Given the description of an element on the screen output the (x, y) to click on. 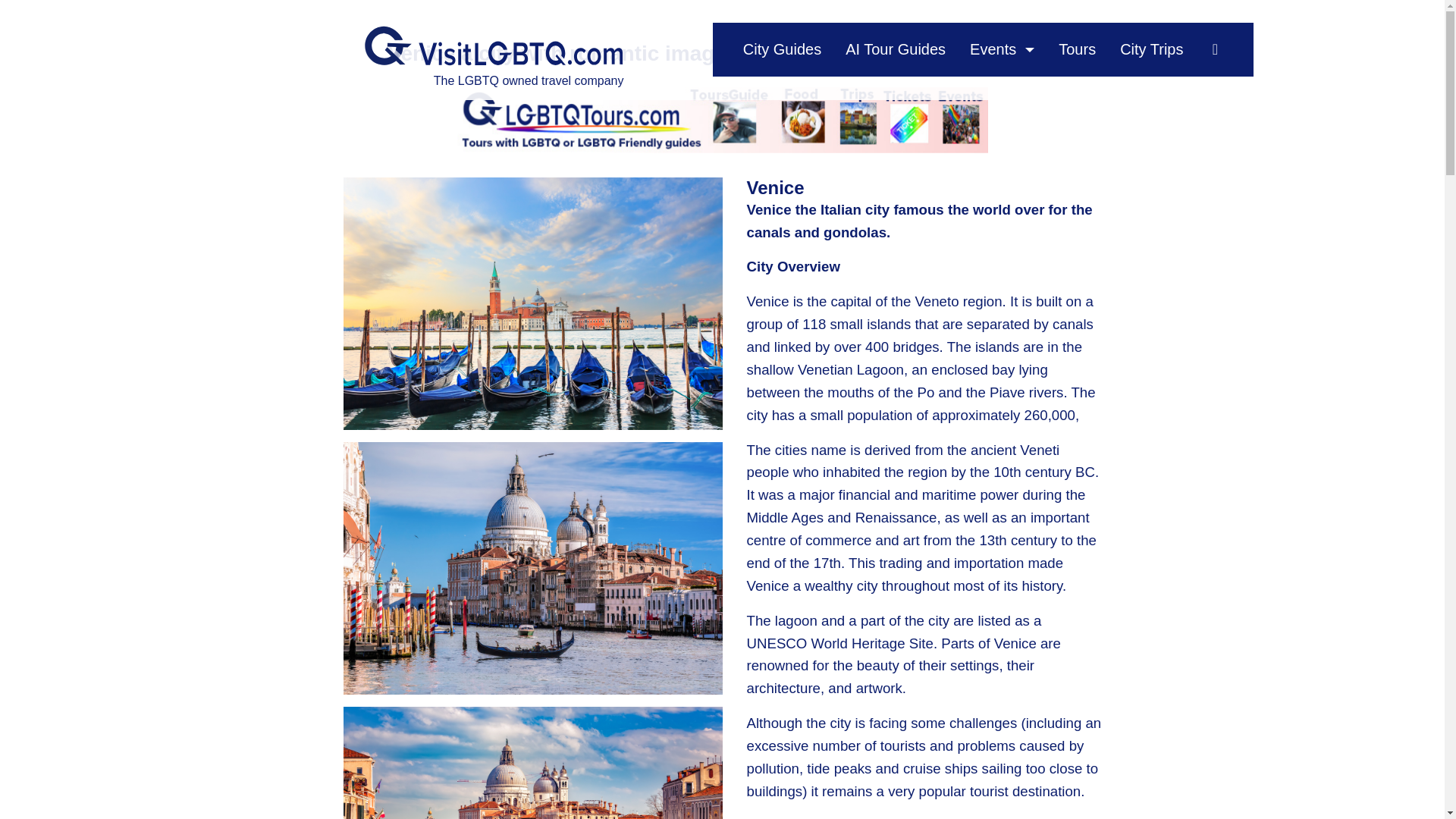
Events (992, 49)
AI Tour Guides (894, 49)
City Guides (781, 49)
Tours (1077, 49)
City Trips (1150, 49)
